Given the description of an element on the screen output the (x, y) to click on. 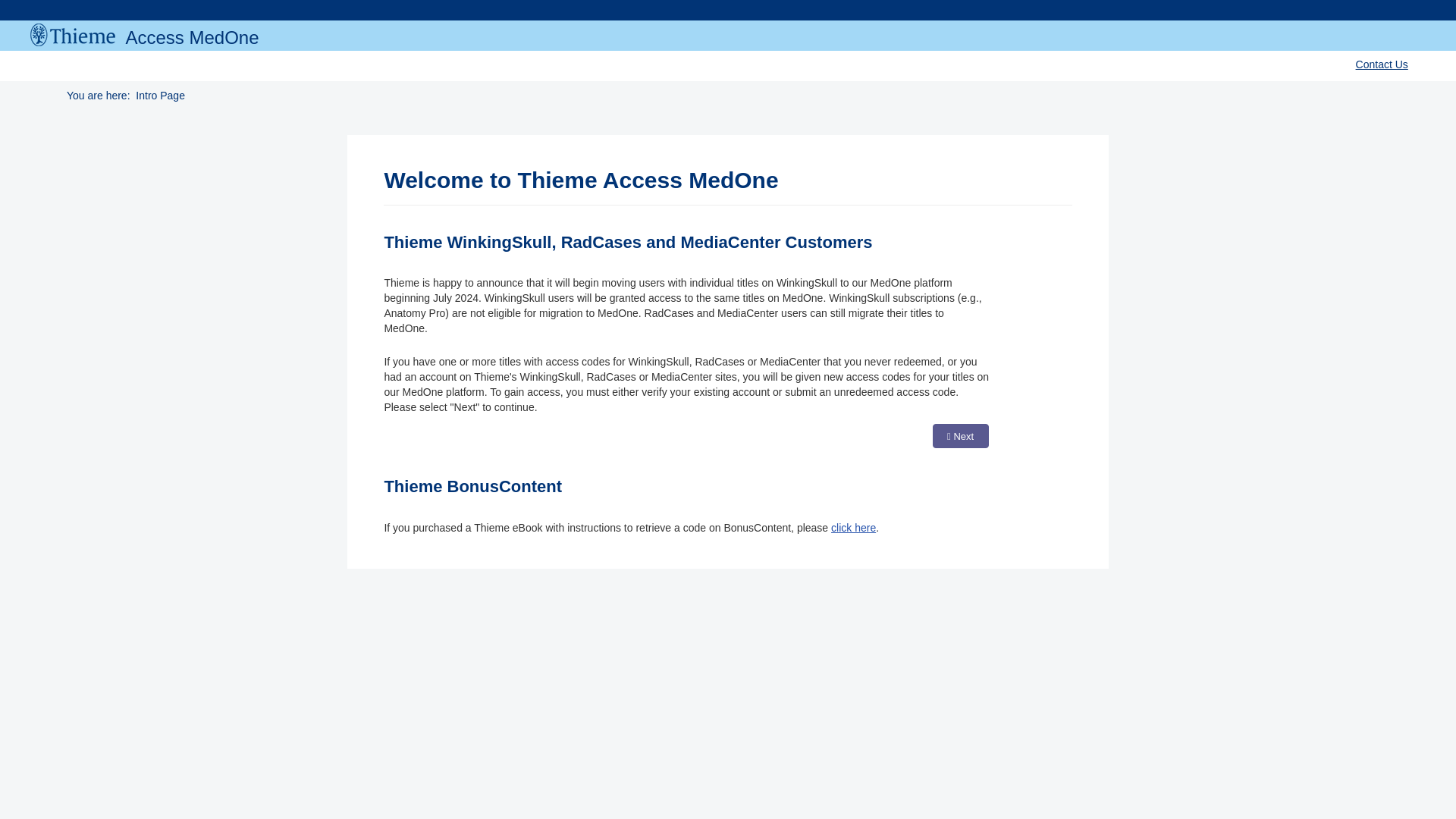
Access MedOne (144, 33)
click here (853, 527)
Next (960, 435)
Contact Us (1381, 64)
